Given the description of an element on the screen output the (x, y) to click on. 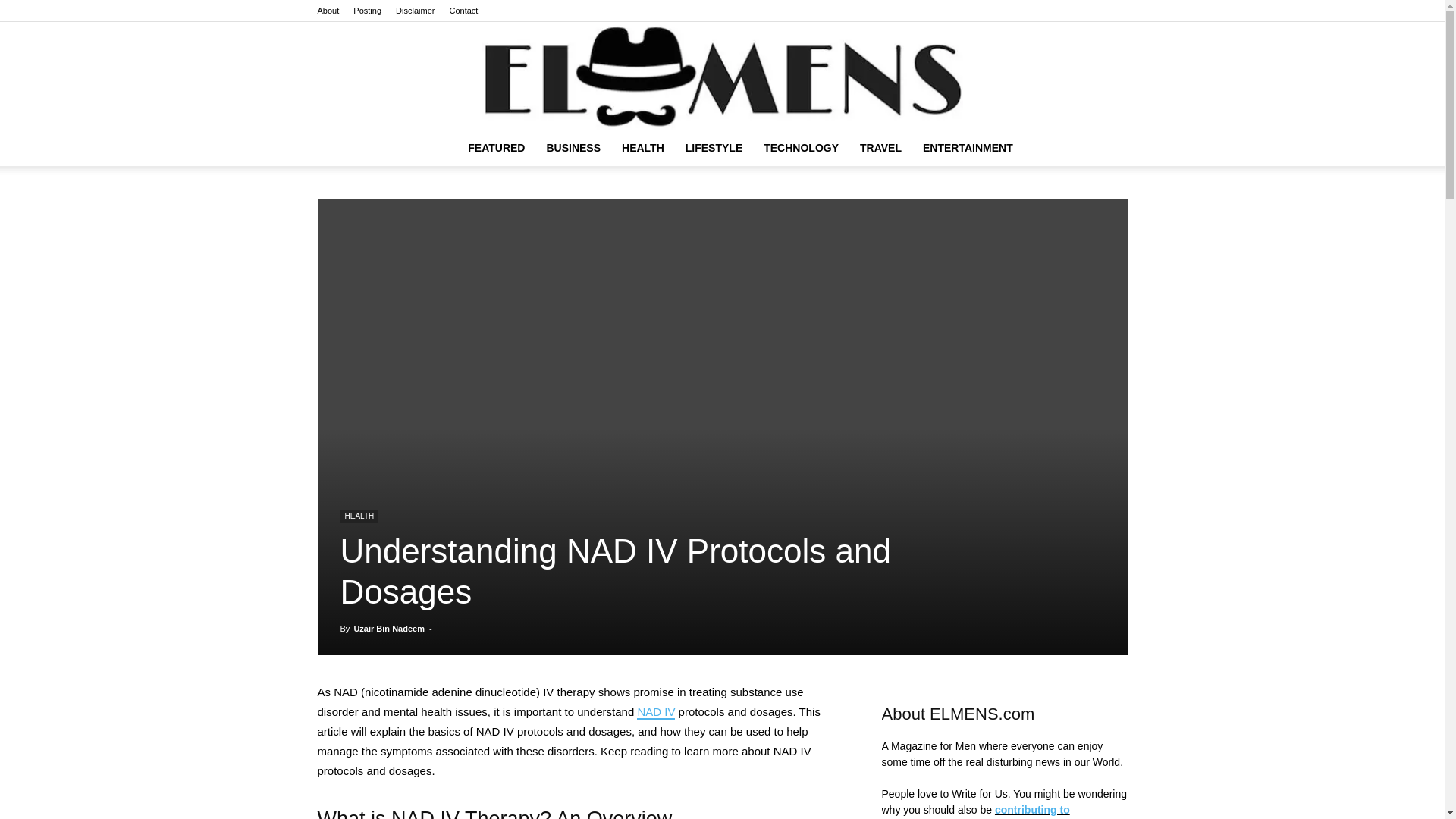
elmenslogo (721, 75)
CATEGORIES (496, 147)
LIFESTYLE (713, 147)
